Given the description of an element on the screen output the (x, y) to click on. 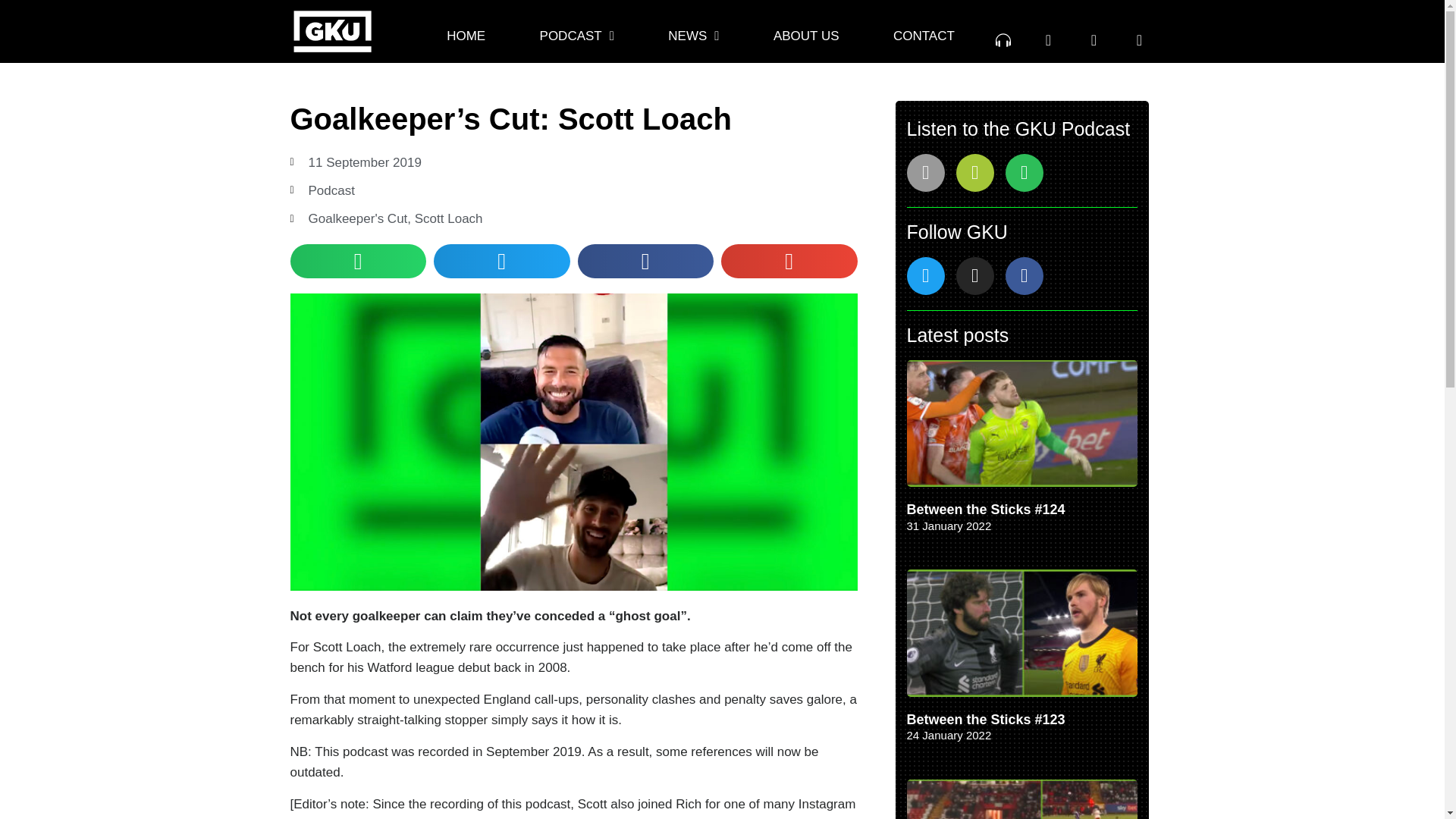
CONTACT (923, 36)
PODCAST (577, 36)
HOME (466, 36)
NEWS (694, 36)
ABOUT US (805, 36)
